Given the description of an element on the screen output the (x, y) to click on. 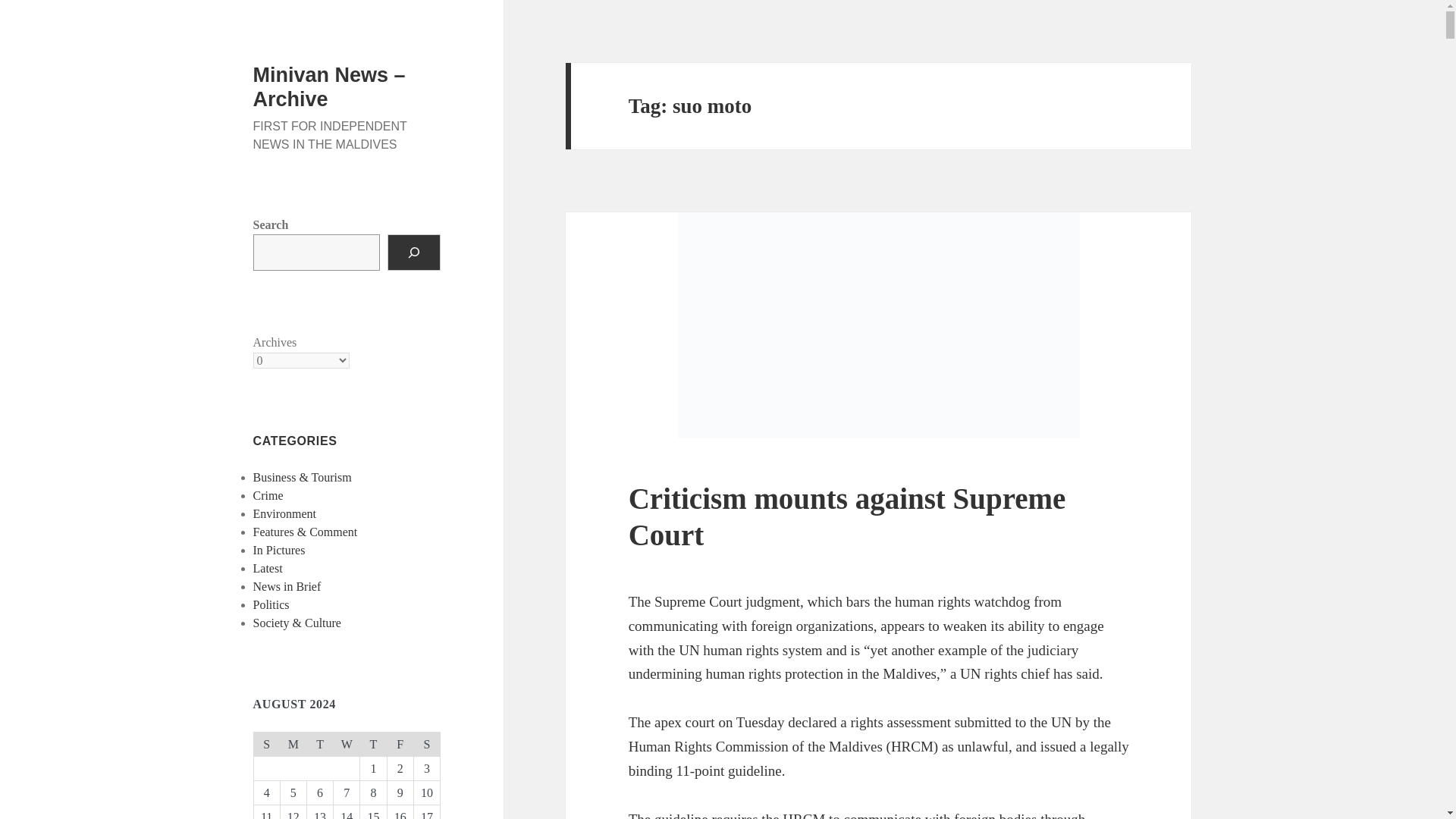
Latest (267, 567)
Wednesday (346, 743)
Sunday (266, 743)
Politics (271, 604)
Crime (268, 495)
Thursday (373, 743)
Monday (292, 743)
Criticism mounts against Supreme Court (846, 516)
Environment (285, 513)
Saturday (426, 743)
News in Brief (287, 585)
Tuesday (319, 743)
Friday (400, 743)
In Pictures (279, 549)
